Given the description of an element on the screen output the (x, y) to click on. 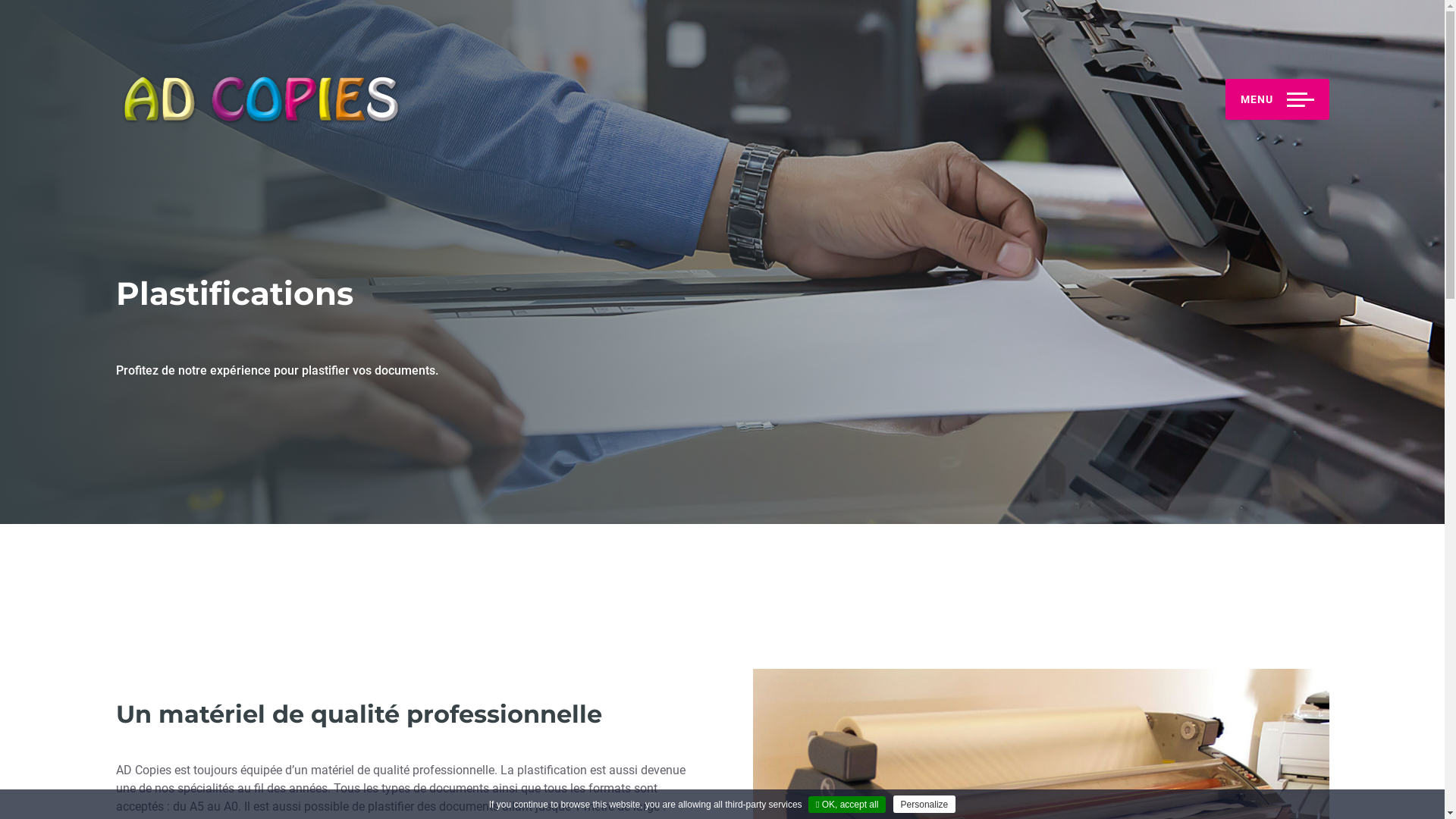
AD Copies Element type: text (259, 99)
MENU Element type: text (1277, 98)
Personalize Element type: text (924, 803)
